Given the description of an element on the screen output the (x, y) to click on. 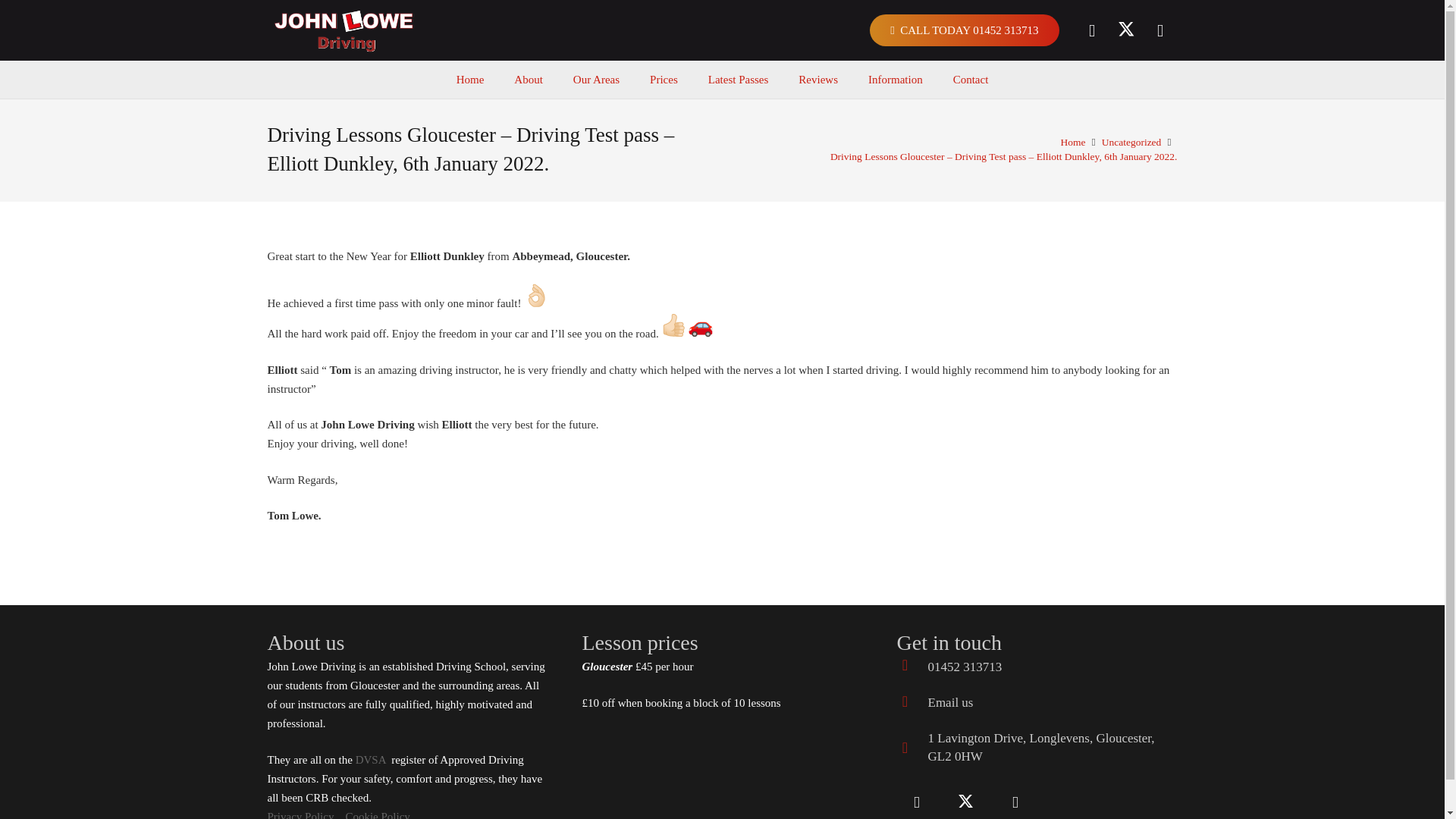
Information (895, 79)
01452 313713 (965, 667)
useful links (370, 759)
Cookie Policy (377, 814)
Our Areas (595, 79)
Facebook (1092, 30)
Facebook (916, 800)
Latest Passes (738, 79)
Contact (970, 79)
Home (470, 79)
Uncategorized (1131, 142)
Privacy Policy (299, 814)
Twitter (966, 800)
Home (1073, 142)
About (528, 79)
